Given the description of an element on the screen output the (x, y) to click on. 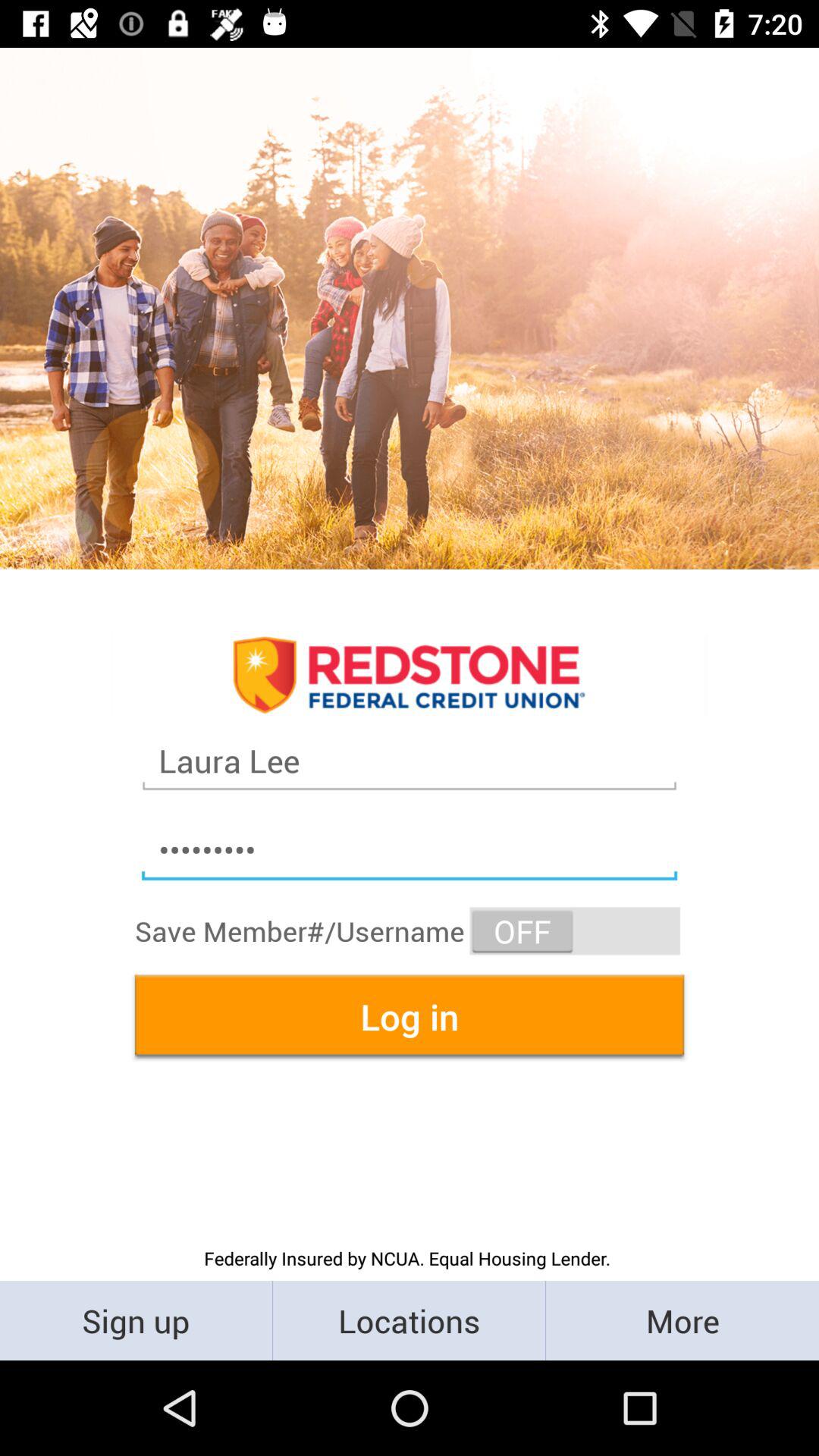
tap item below the federally insured by (682, 1320)
